Given the description of an element on the screen output the (x, y) to click on. 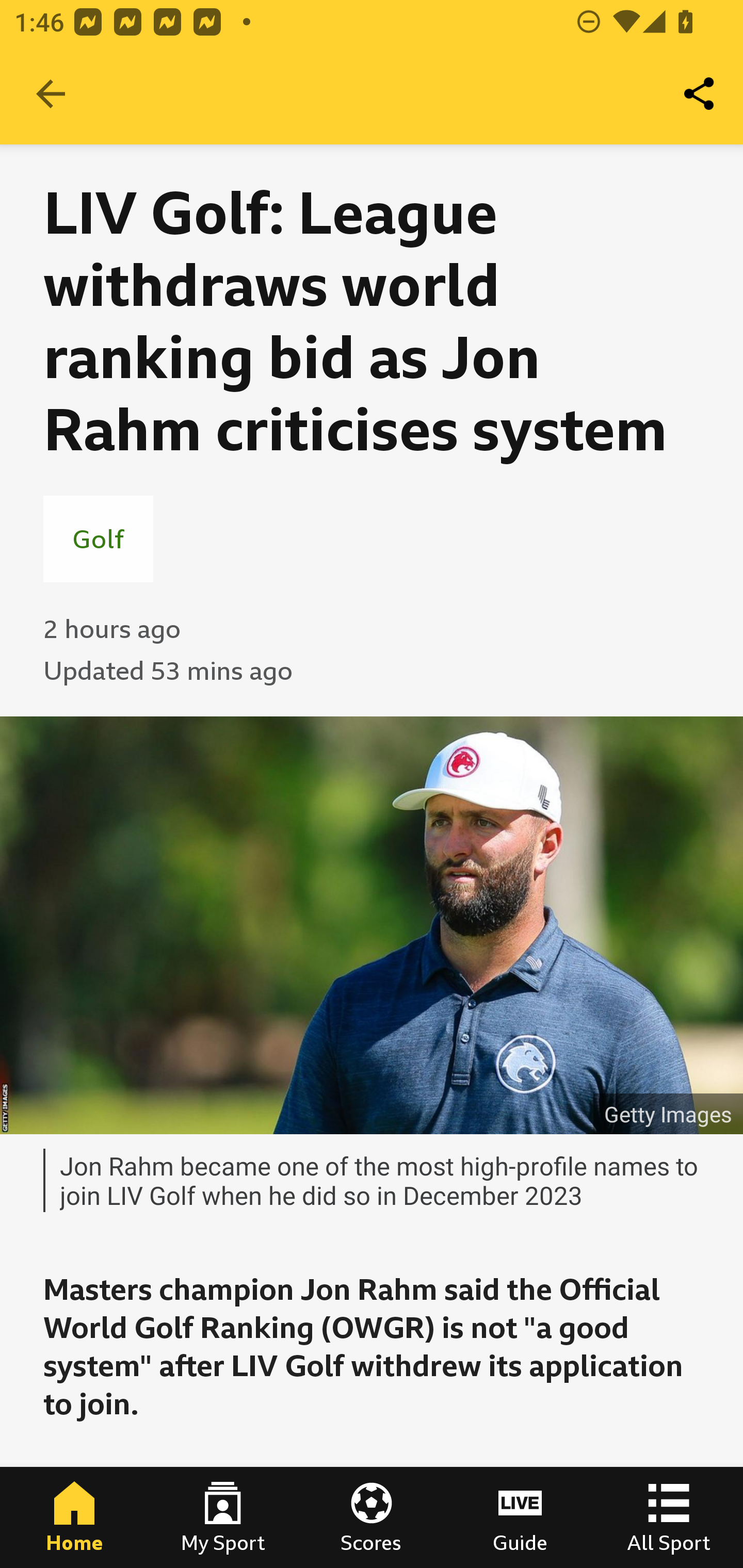
Navigate up (50, 93)
Share (699, 93)
Golf (98, 538)
My Sport (222, 1517)
Scores (371, 1517)
Guide (519, 1517)
All Sport (668, 1517)
